Given the description of an element on the screen output the (x, y) to click on. 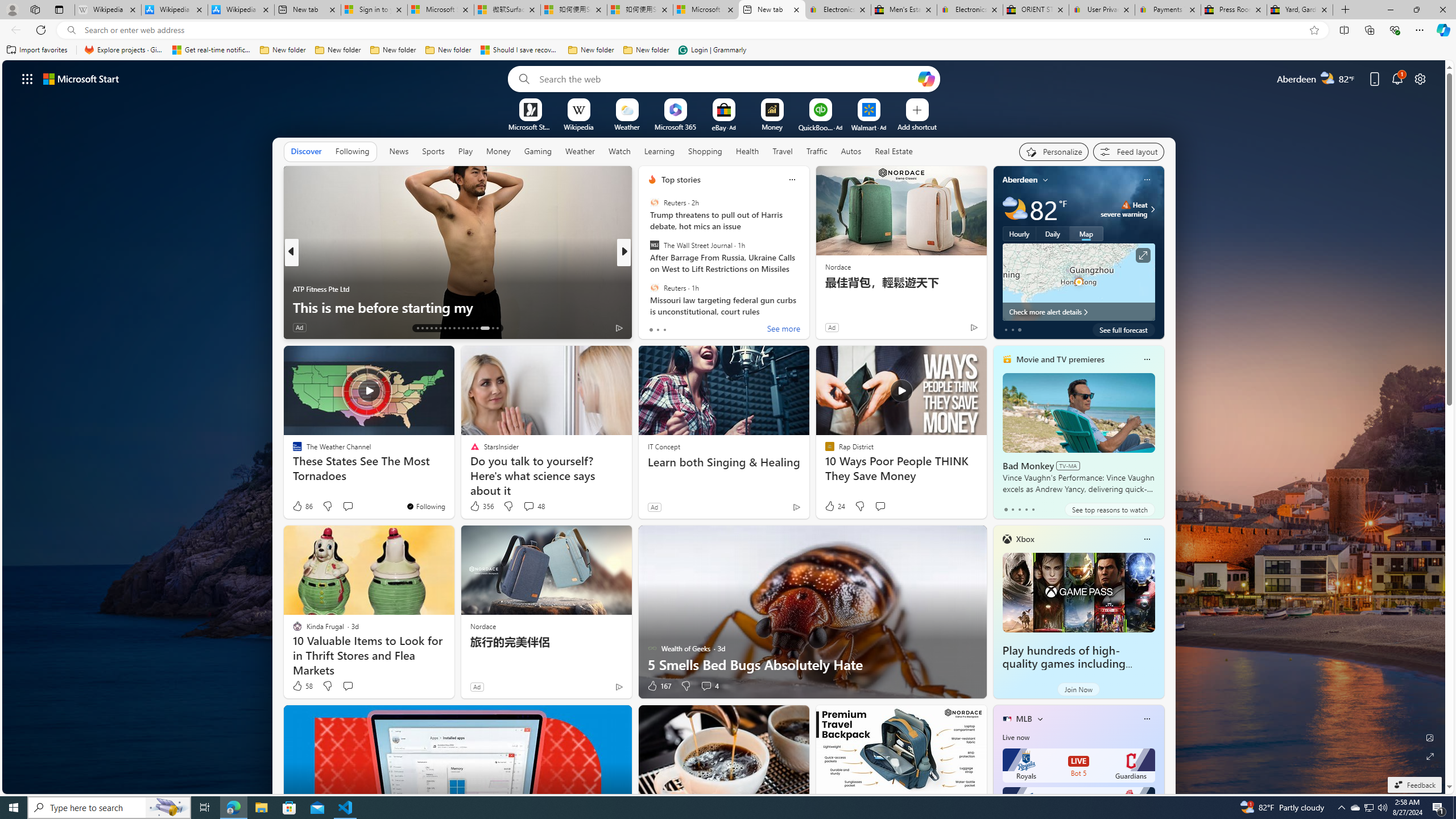
The Wall Street Journal (654, 245)
AutomationID: tab-14 (422, 328)
Enter your search term (726, 78)
Page settings (1420, 78)
Login | Grammarly (712, 49)
Learning (658, 151)
Traffic (816, 151)
Weather (579, 151)
Import favorites (36, 49)
Yard, Garden & Outdoor Living (1300, 9)
AutomationID: tab-19 (444, 328)
